Given the description of an element on the screen output the (x, y) to click on. 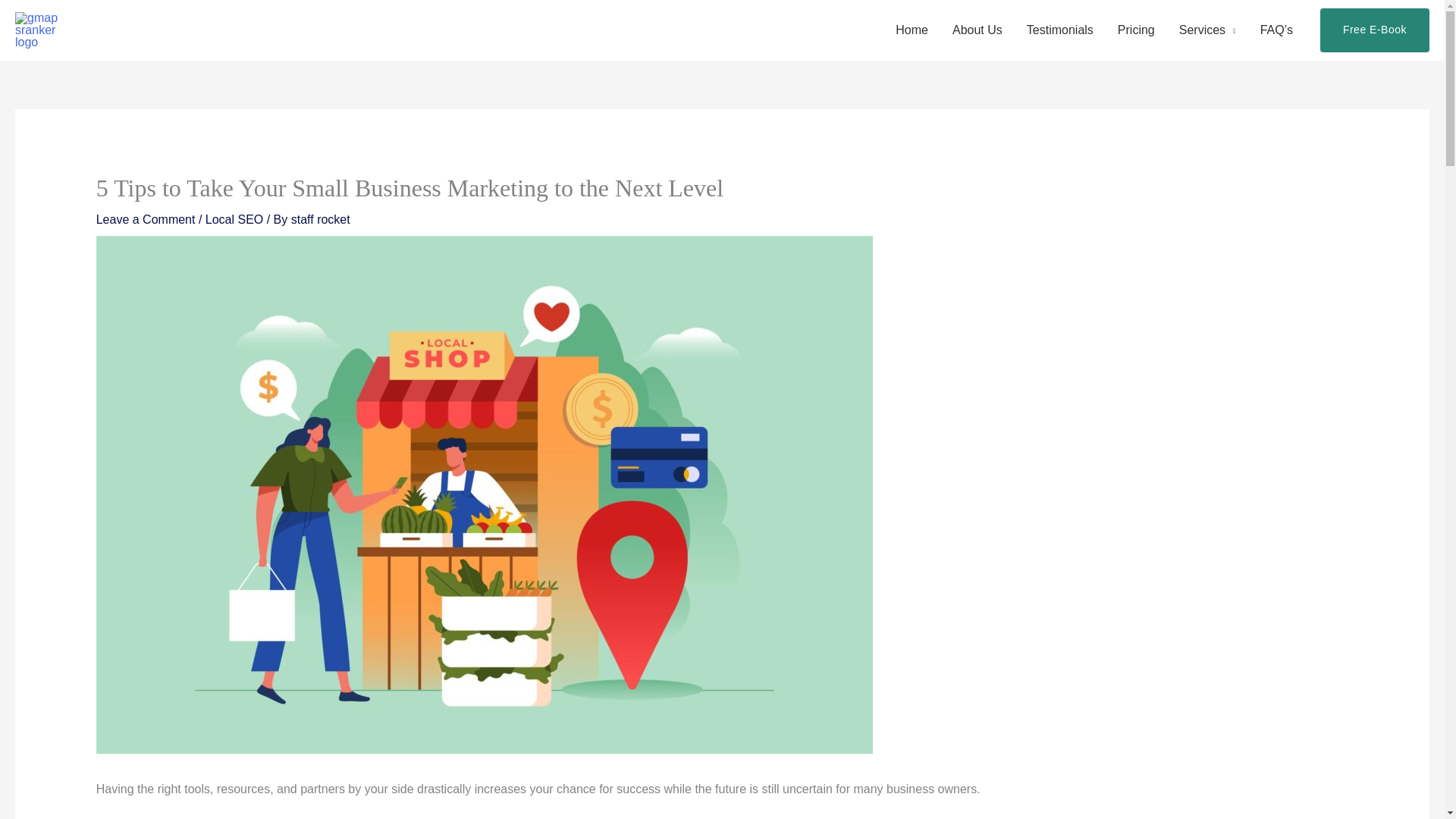
Pricing (1136, 30)
Home (911, 30)
Leave a Comment (145, 219)
Services (1207, 30)
About Us (977, 30)
Free E-Book (1374, 30)
Testimonials (1059, 30)
View all posts by staff rocket (320, 219)
staff rocket (320, 219)
Local SEO (234, 219)
